Given the description of an element on the screen output the (x, y) to click on. 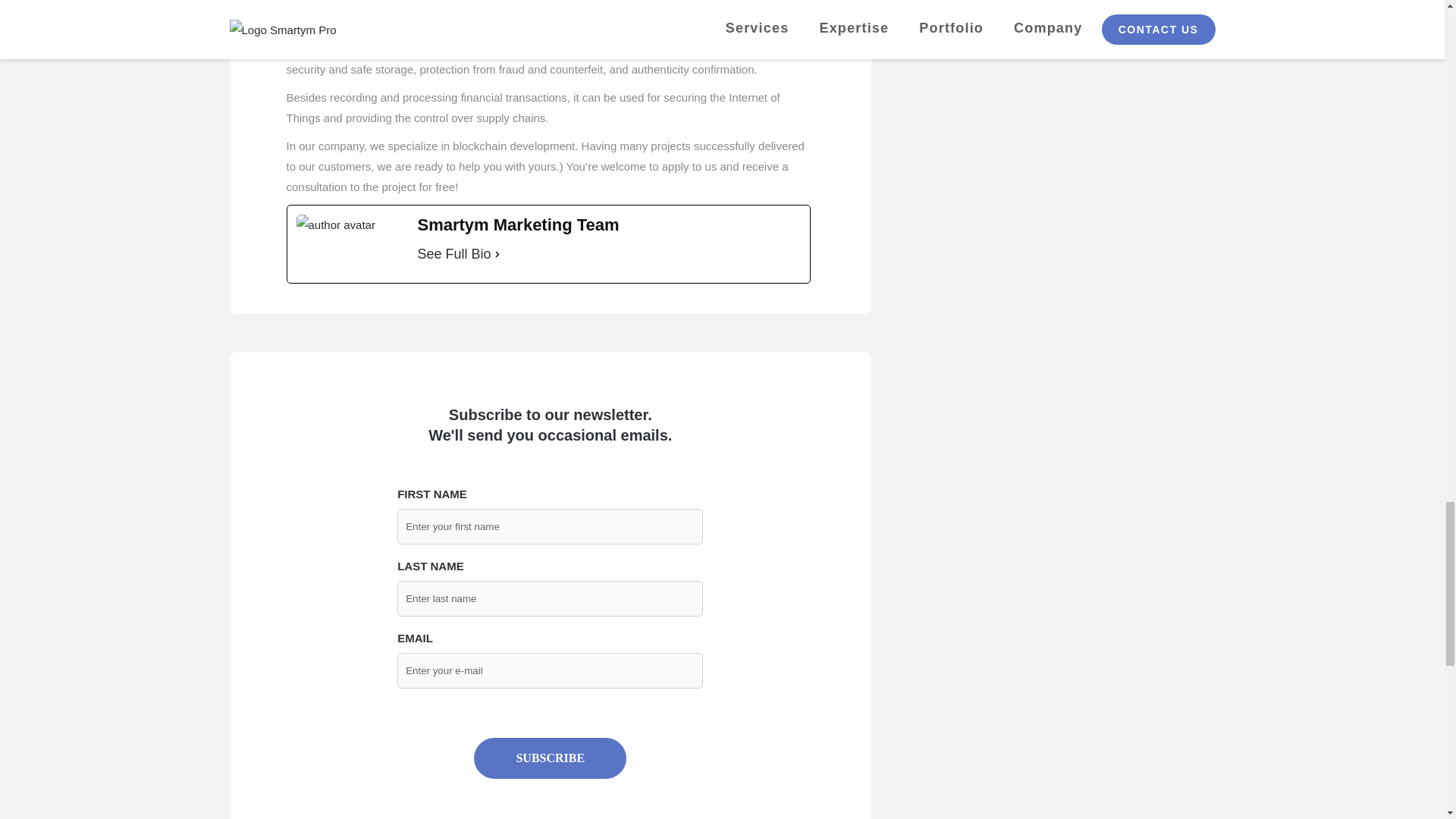
SUBSCRIBE (550, 757)
post-img (334, 224)
See Full Bio (453, 254)
